Given the description of an element on the screen output the (x, y) to click on. 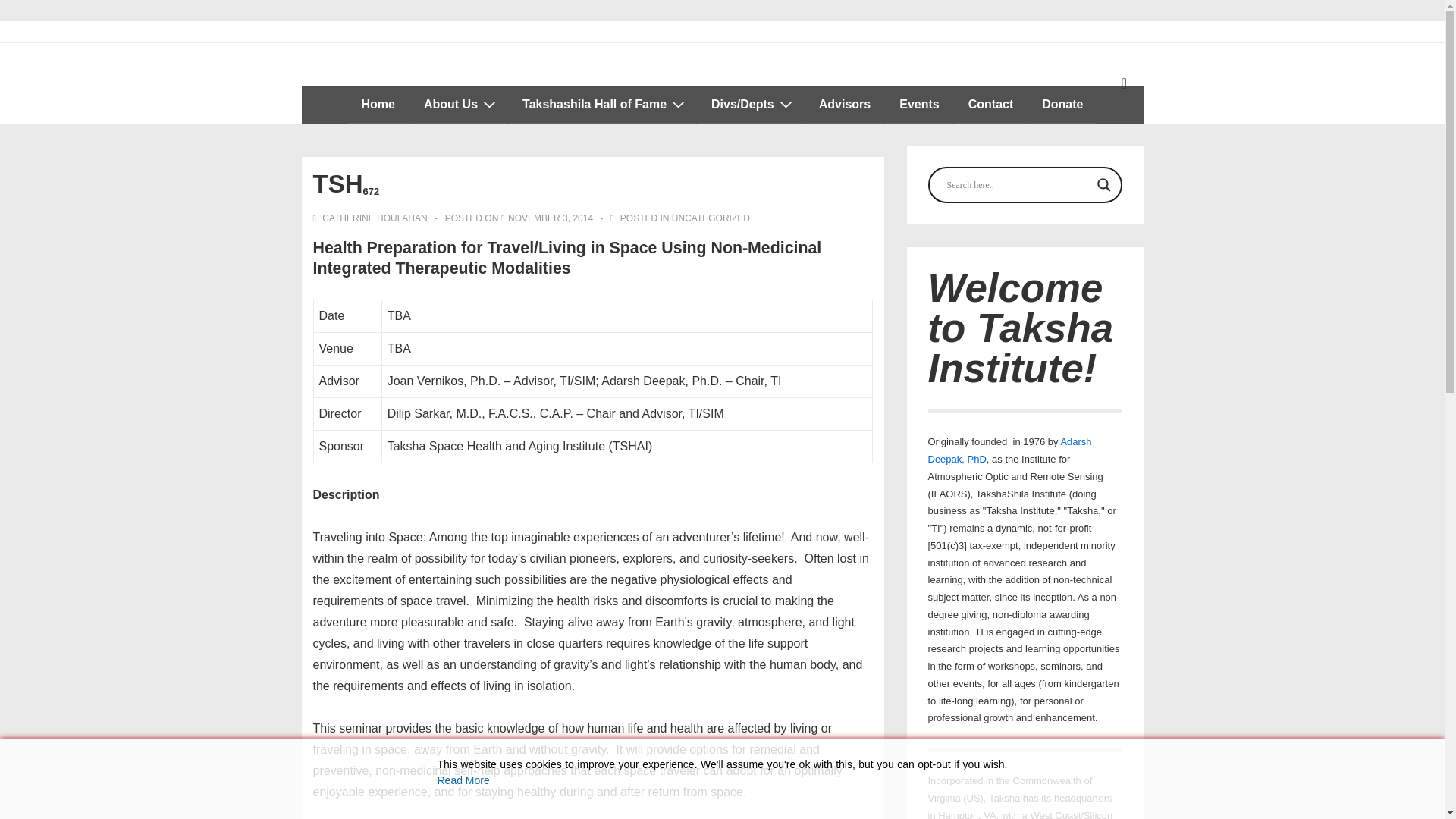
Donate (1061, 104)
UNCATEGORIZED (710, 217)
Takshashila Hall of Fame (601, 104)
CATHERINE HOULAHAN (371, 217)
Advisors (844, 104)
Events (918, 104)
MENU (1123, 83)
Adarsh Deepak, PhD (1010, 450)
About Us (458, 104)
NOVEMBER 3, 2014 (550, 217)
